Given the description of an element on the screen output the (x, y) to click on. 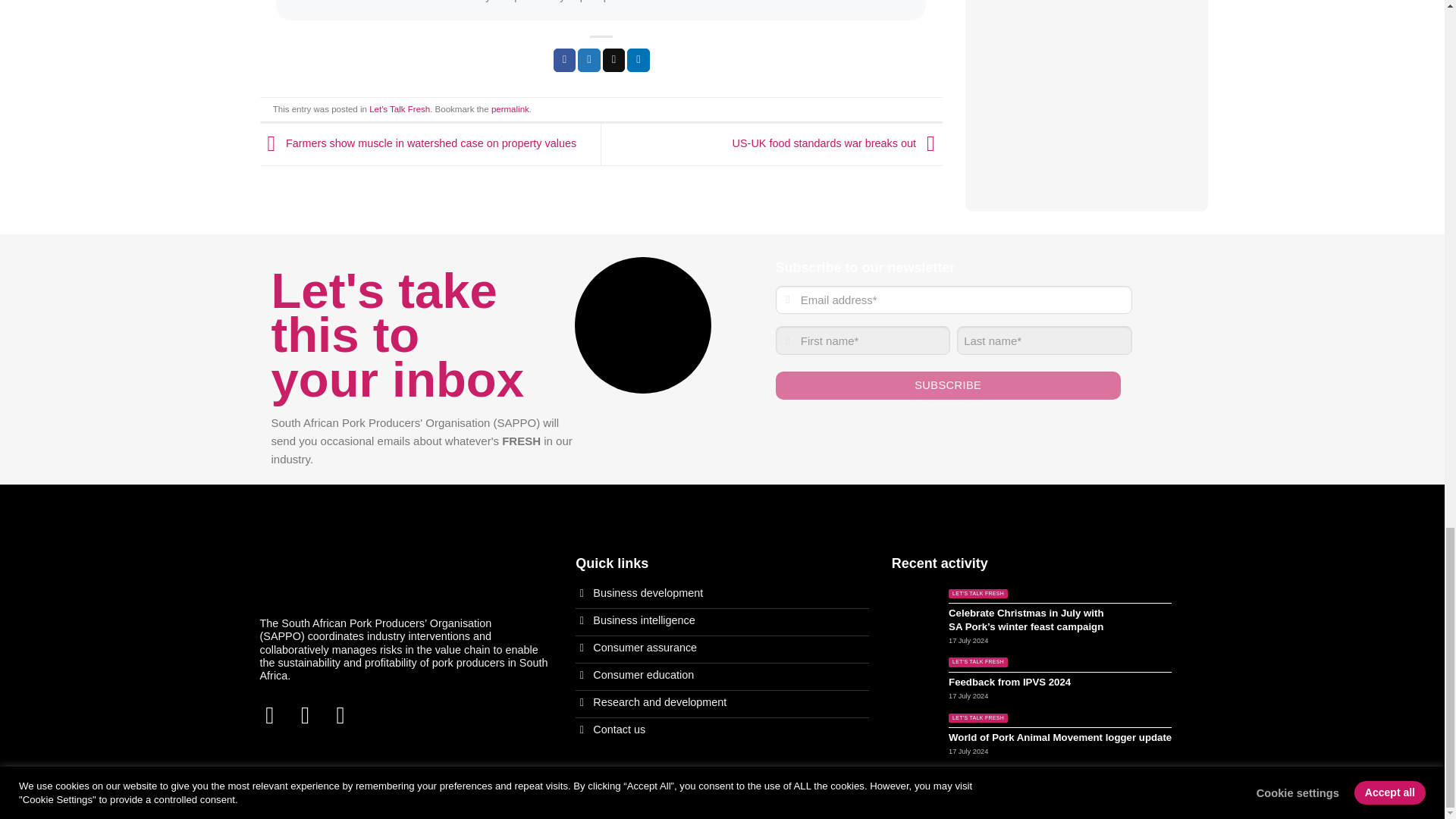
Follow on Instagram (312, 714)
Share on Facebook (564, 59)
Follow on LinkedIn (347, 714)
Share on Twitter (588, 59)
Follow on Facebook (276, 714)
Permalink to Four tech trends impacting agriculture in 2019 (510, 108)
Email to a Friend (614, 59)
Share on LinkedIn (638, 59)
Subscribe (946, 385)
